Given the description of an element on the screen output the (x, y) to click on. 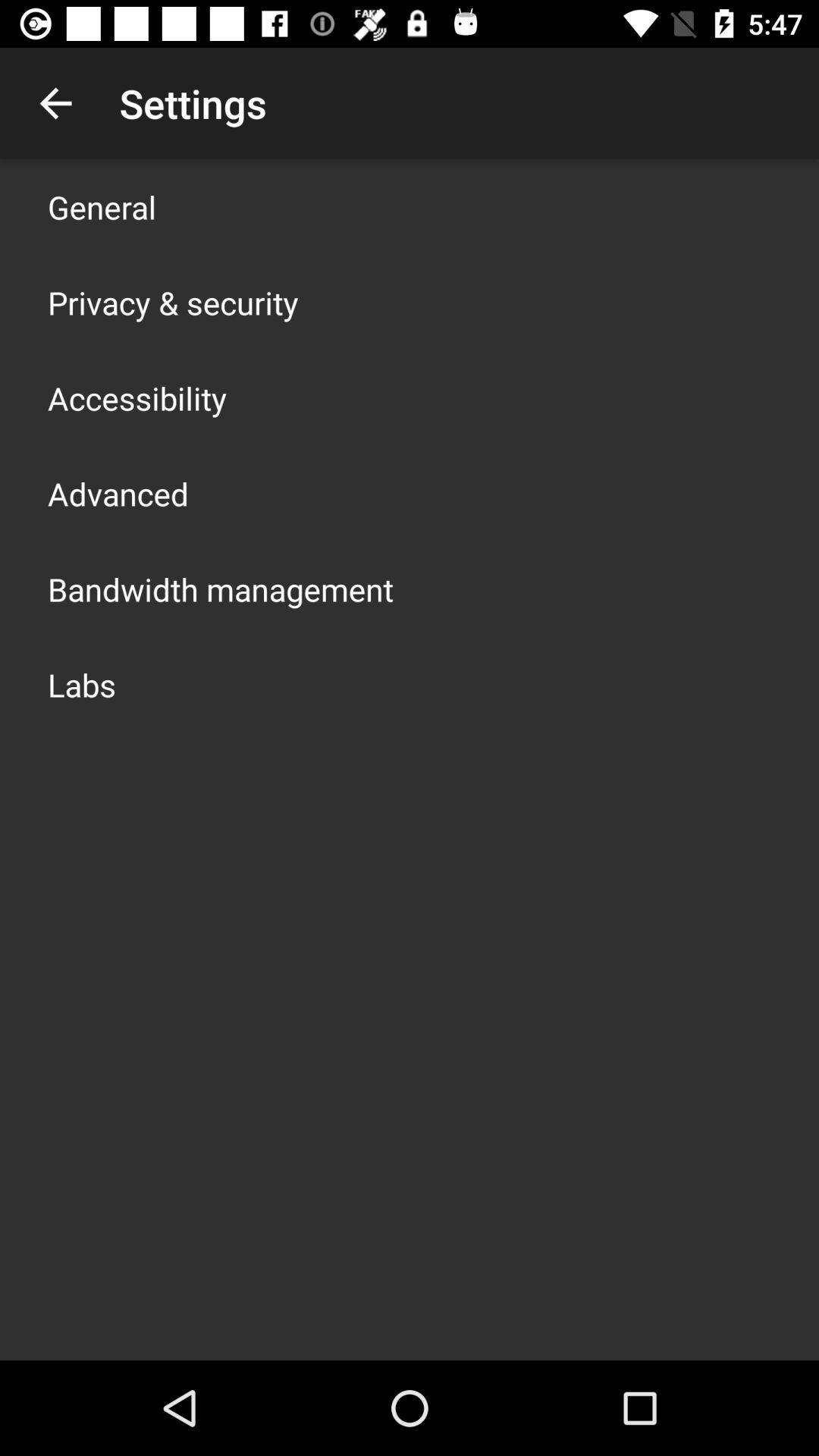
tap the item below the privacy & security app (136, 397)
